Given the description of an element on the screen output the (x, y) to click on. 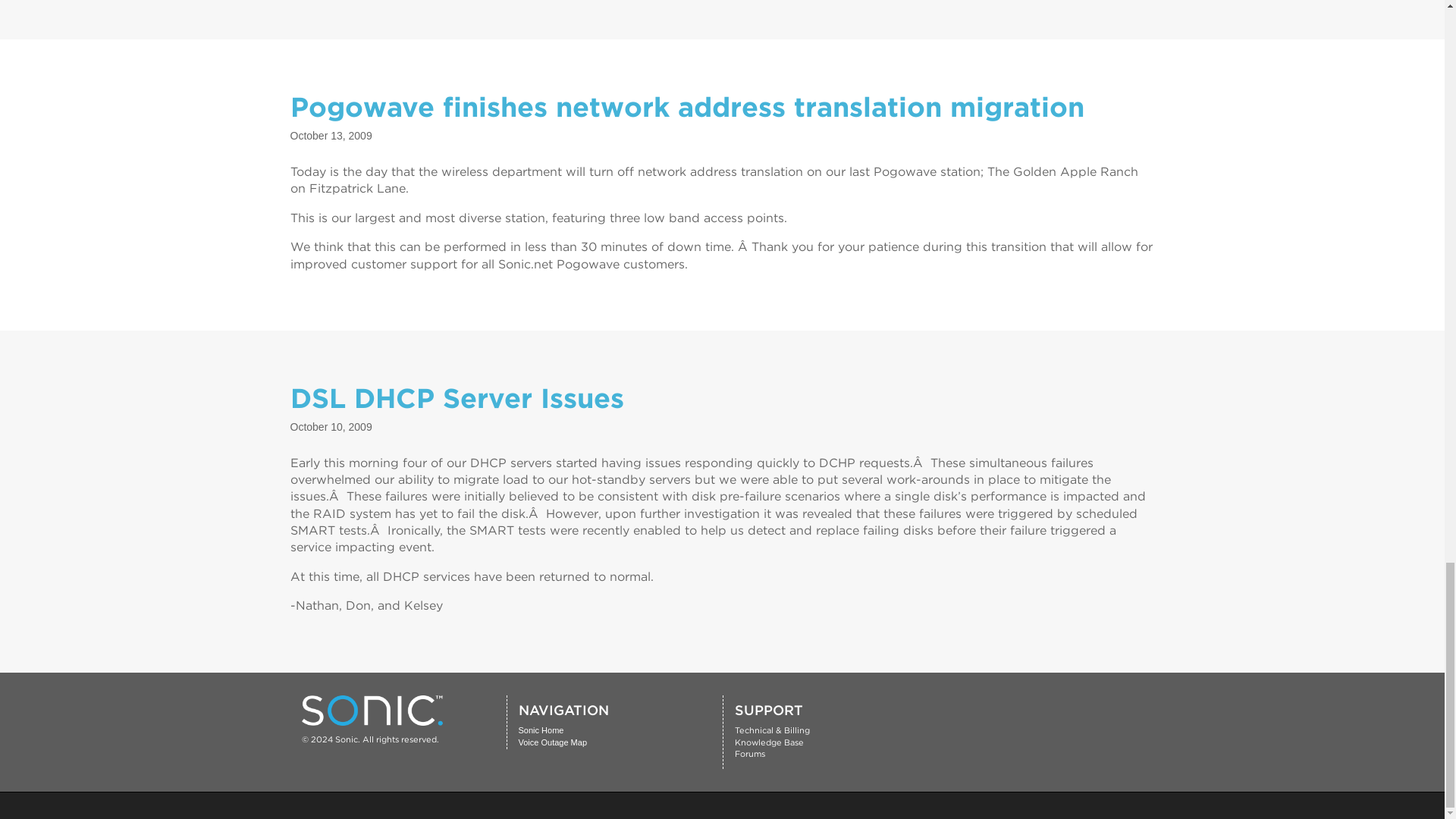
Knowledge Base (768, 742)
Sonic Home (541, 729)
DSL DHCP Server Issues (456, 397)
October 13, 2009 (330, 135)
Forums (748, 753)
Voice Outage Map (553, 741)
Pogowave finishes network address translation migration (686, 106)
October 10, 2009 (330, 426)
